Given the description of an element on the screen output the (x, y) to click on. 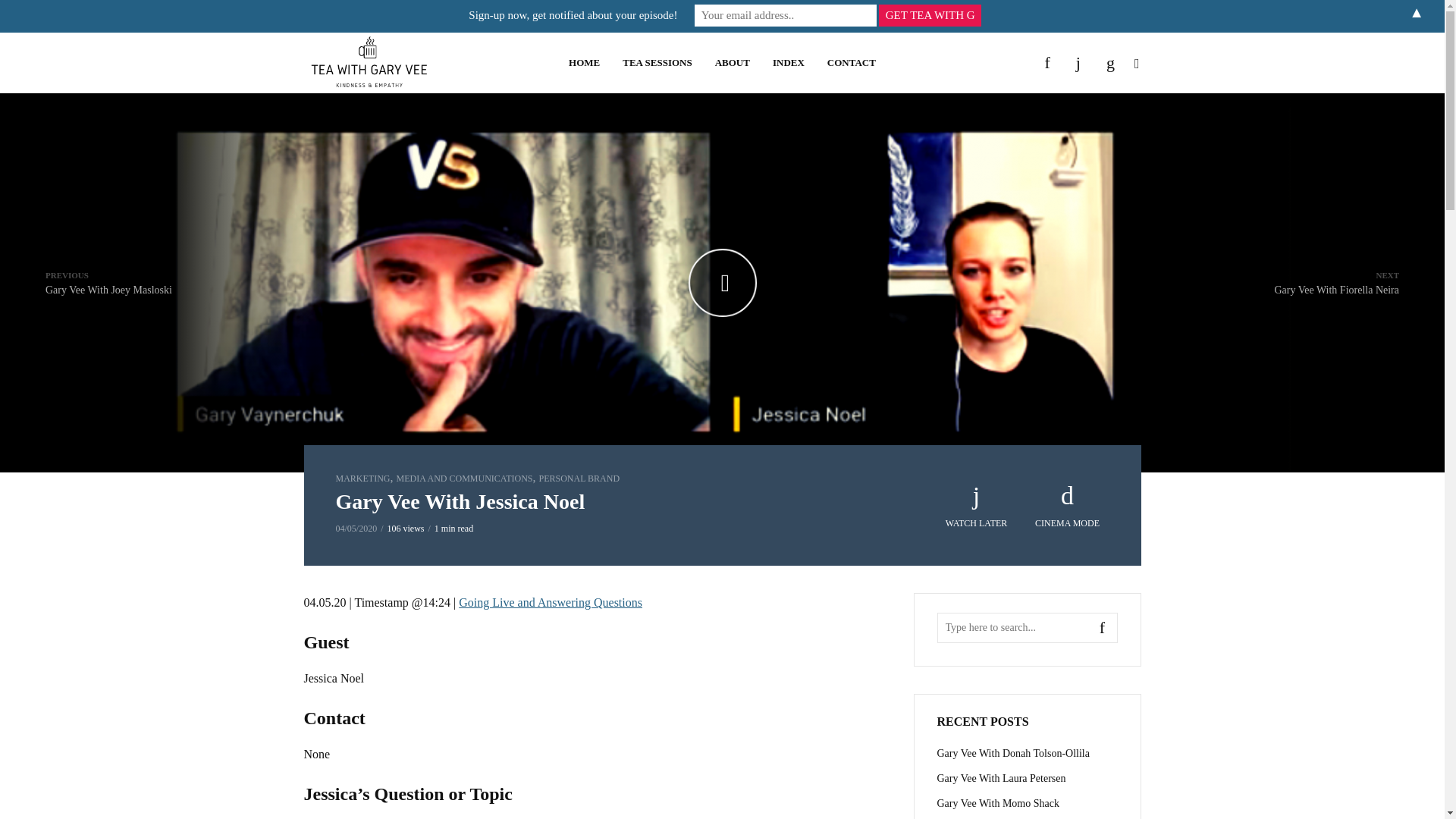
WATCH LATER (976, 506)
CONTACT (1336, 282)
GET TEA WITH G (850, 62)
PERSONAL BRAND (930, 15)
MEDIA AND COMMUNICATIONS (579, 478)
TEA SESSIONS (464, 478)
MARKETING (657, 62)
Going Live and Answering Questions (362, 478)
CINEMA MODE (550, 602)
